Given the description of an element on the screen output the (x, y) to click on. 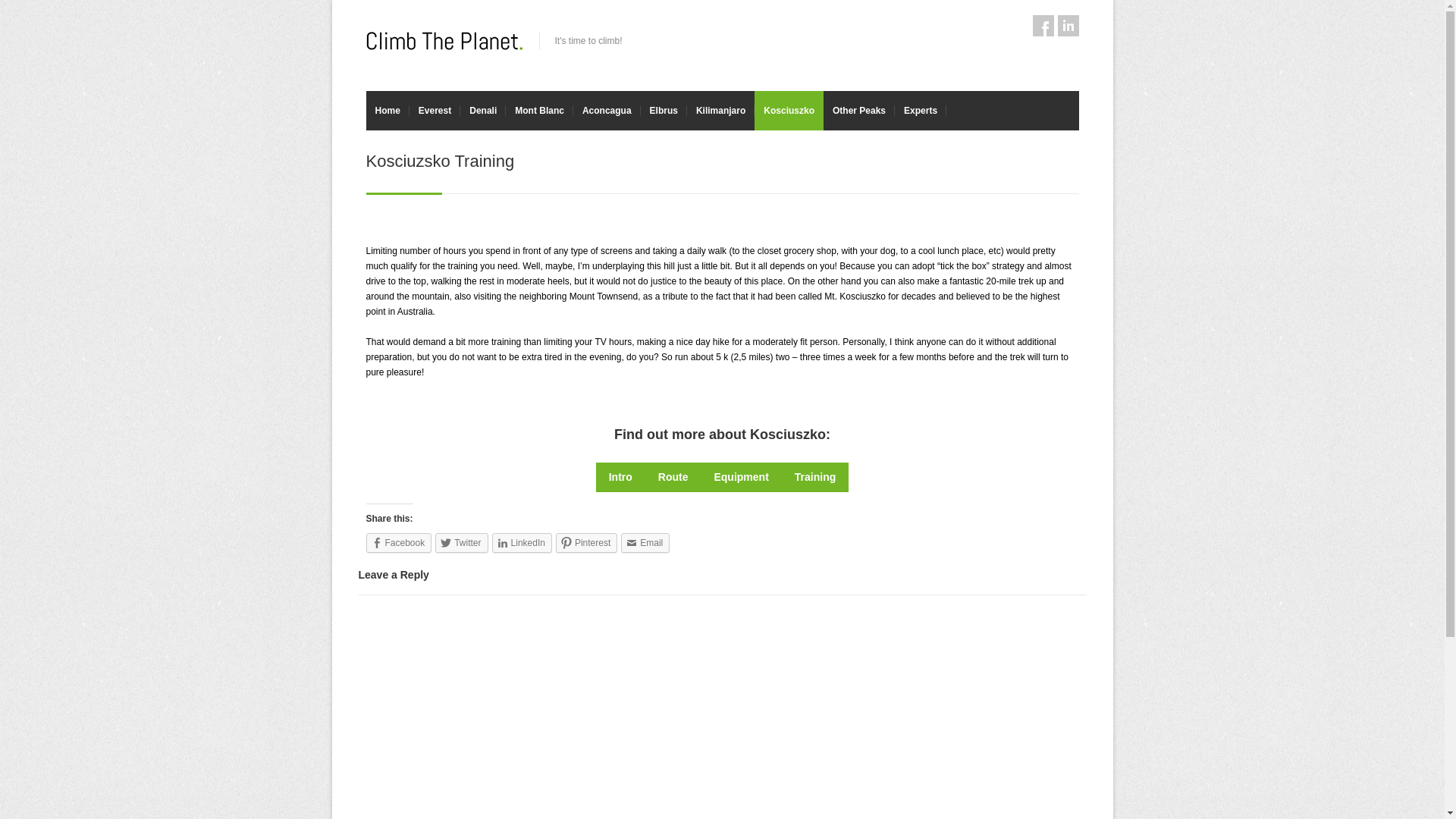
Aconcagua (606, 110)
Elbrus (663, 110)
Kilimanjaro (720, 110)
Mont Blanc (539, 110)
Everest (434, 110)
facebook (1043, 25)
Denali (482, 110)
Kosciuszko (789, 110)
Facebook (1043, 25)
linkedin (1067, 25)
